Given the description of an element on the screen output the (x, y) to click on. 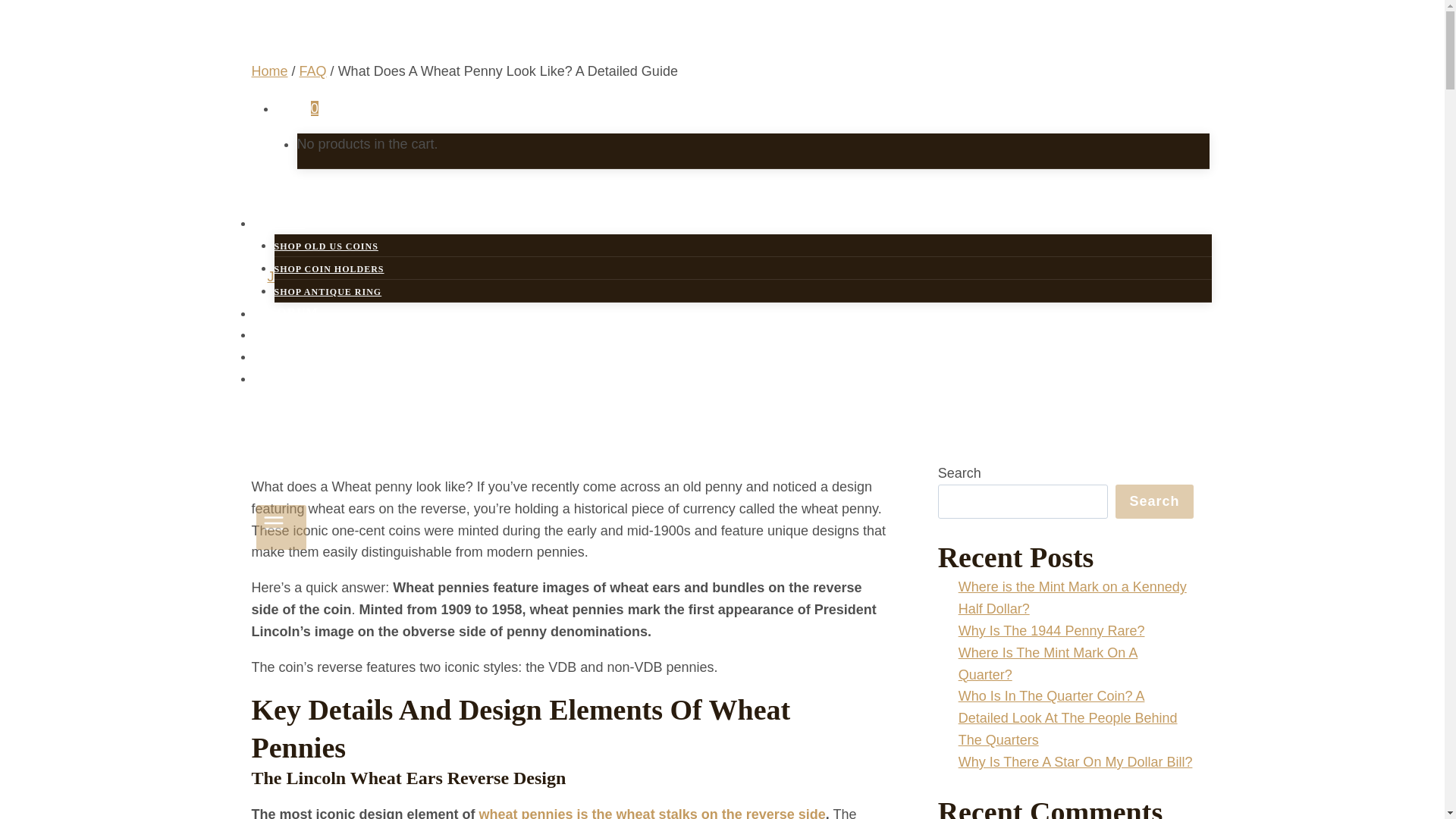
SHOP ANTIQUE RING (328, 291)
NEWS (287, 378)
0 (296, 108)
wheat pennies is the wheat stalks on the reverse side (652, 812)
SHOP COIN HOLDERS (329, 268)
ABOUT US (301, 356)
Home (269, 70)
SHOP OLD US COINS (326, 246)
MY ACCOUNT (313, 334)
SHOP (292, 222)
FORUM (293, 312)
James Wilson (309, 276)
FAQ (312, 70)
